Given the description of an element on the screen output the (x, y) to click on. 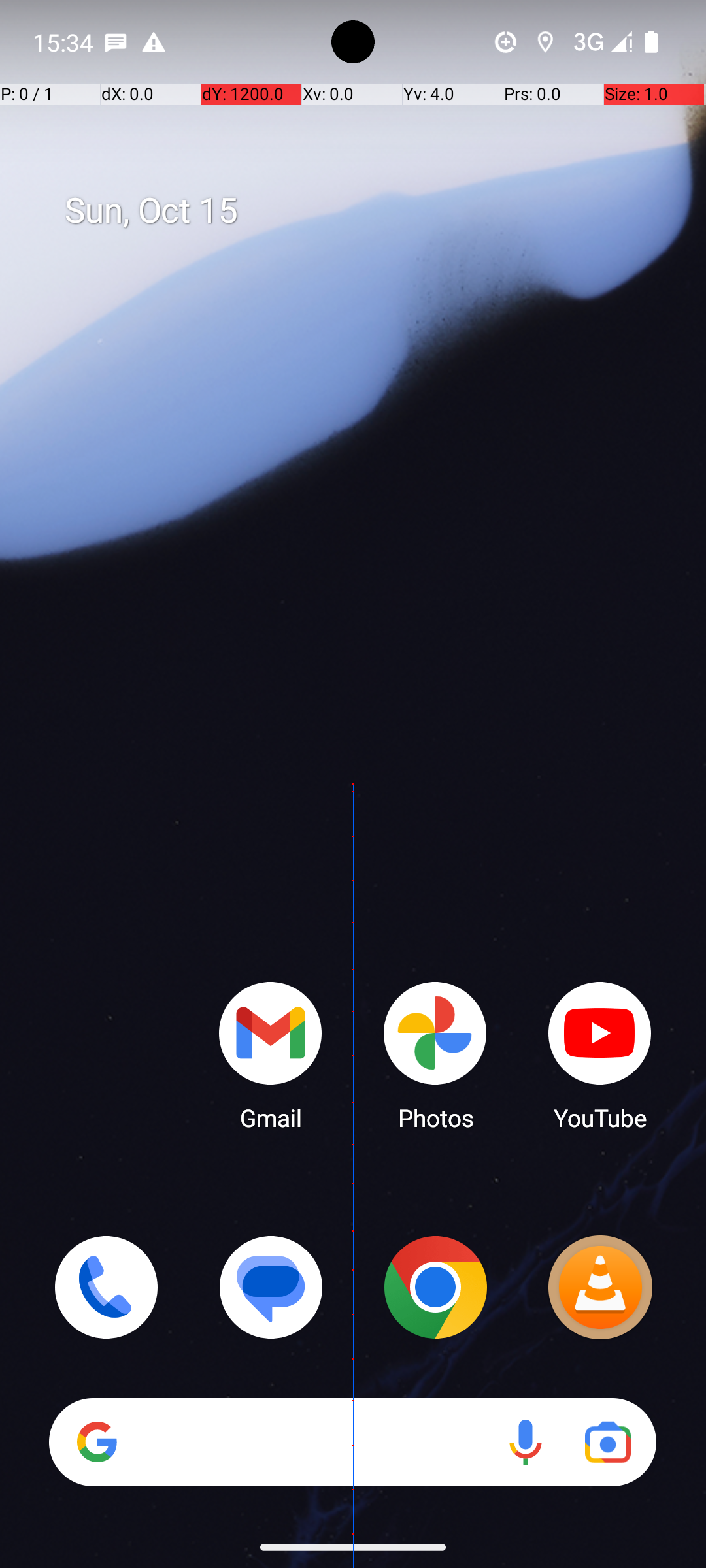
Home Element type: android.view.View (353, 804)
Phone Element type: android.widget.TextView (105, 1287)
Messages Element type: android.widget.TextView (270, 1287)
Chrome Element type: android.widget.TextView (435, 1287)
VLC Element type: android.widget.TextView (599, 1287)
Sun, Oct 15 Element type: android.widget.TextView (366, 210)
Gmail Element type: android.widget.TextView (270, 1054)
Photos Element type: android.widget.TextView (435, 1054)
YouTube Element type: android.widget.TextView (599, 1054)
Data Saver is on Element type: android.widget.ImageView (505, 41)
